Given the description of an element on the screen output the (x, y) to click on. 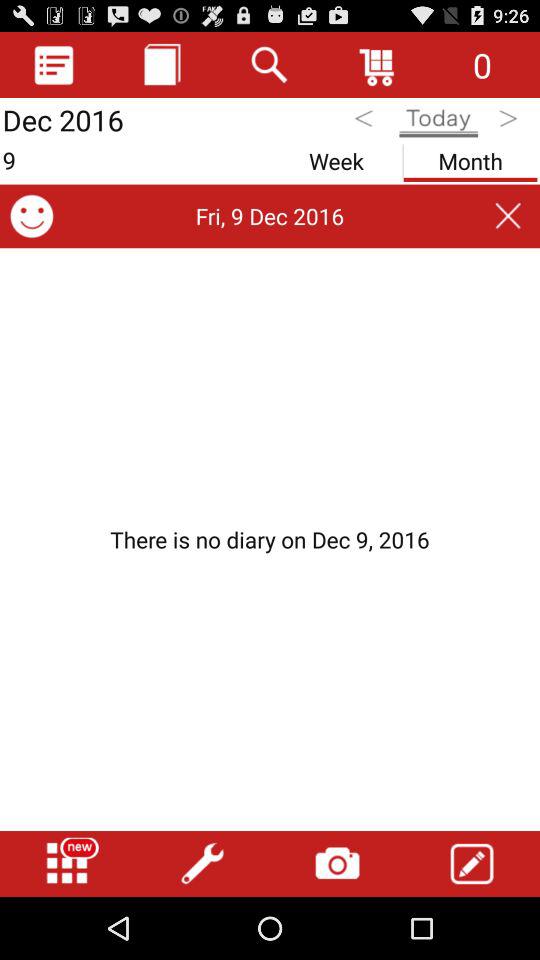
go to next day (510, 121)
